Given the description of an element on the screen output the (x, y) to click on. 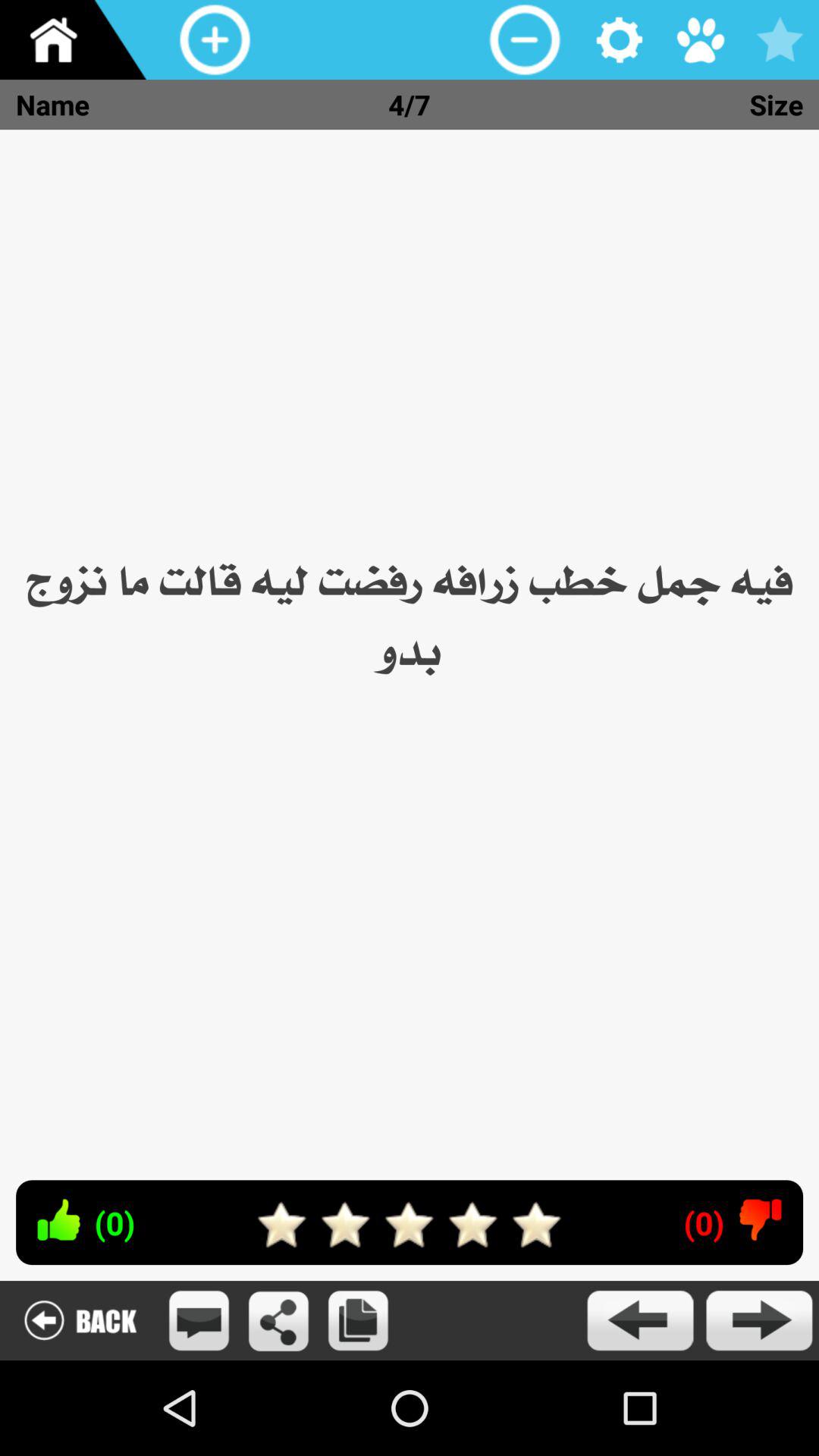
launch icon below the (0) icon (639, 1320)
